Given the description of an element on the screen output the (x, y) to click on. 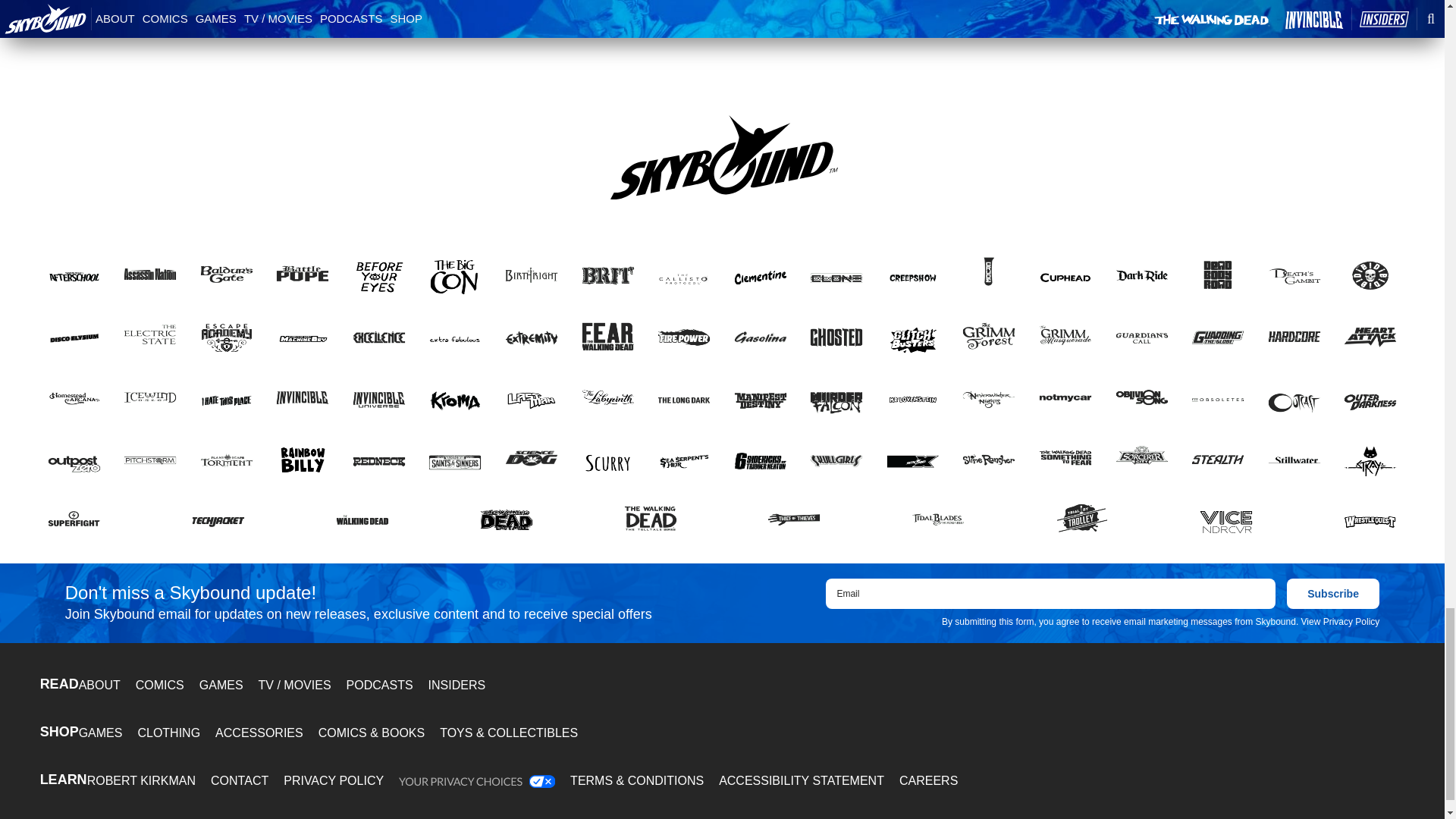
skybound-black-262626 (724, 157)
